Given the description of an element on the screen output the (x, y) to click on. 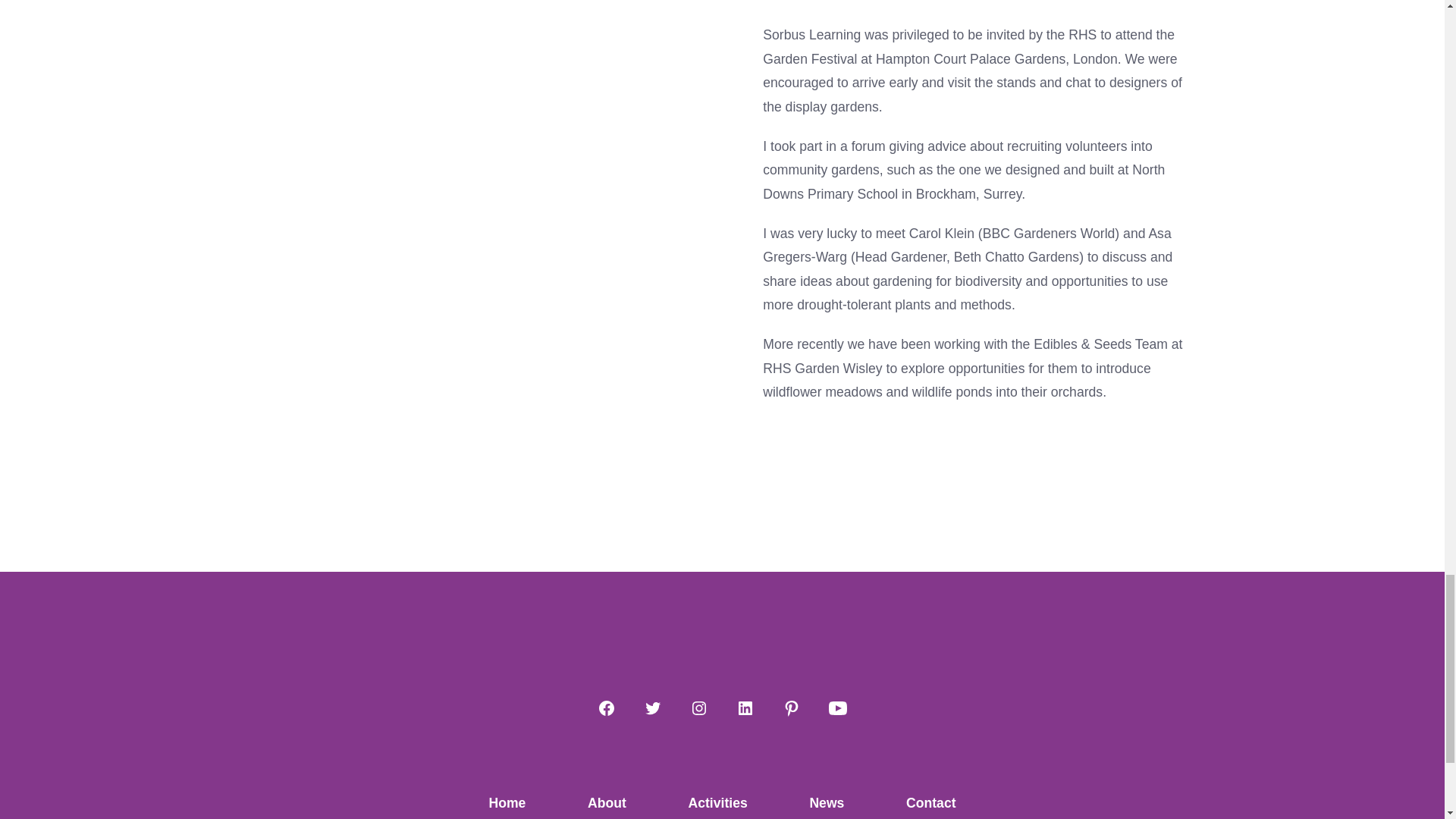
Contact (931, 803)
News (826, 803)
Open Pinterest in a new tab (791, 708)
Open YouTube in a new tab (837, 708)
Open LinkedIn in a new tab (745, 708)
About (607, 803)
Open Instagram in a new tab (699, 708)
Activities (717, 803)
Open Twitter in a new tab (652, 708)
Home (507, 803)
